Given the description of an element on the screen output the (x, y) to click on. 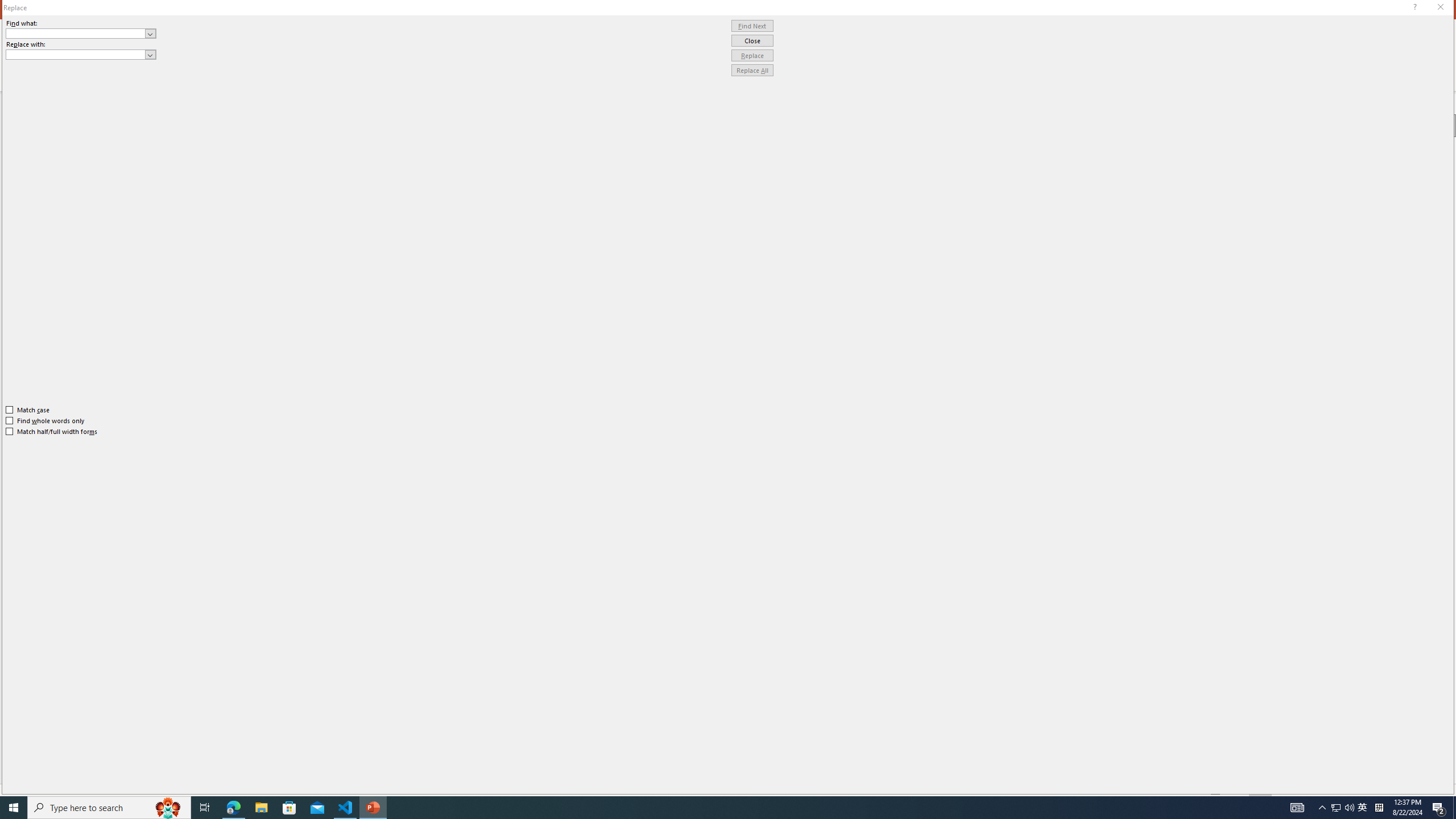
Fill Color RGB(255, 255, 255) (1400, 243)
Reset Background (1361, 766)
Fill (1288, 126)
Fill (1347, 153)
Gradient fill (1315, 183)
Zoom 150% (1430, 790)
